Given the description of an element on the screen output the (x, y) to click on. 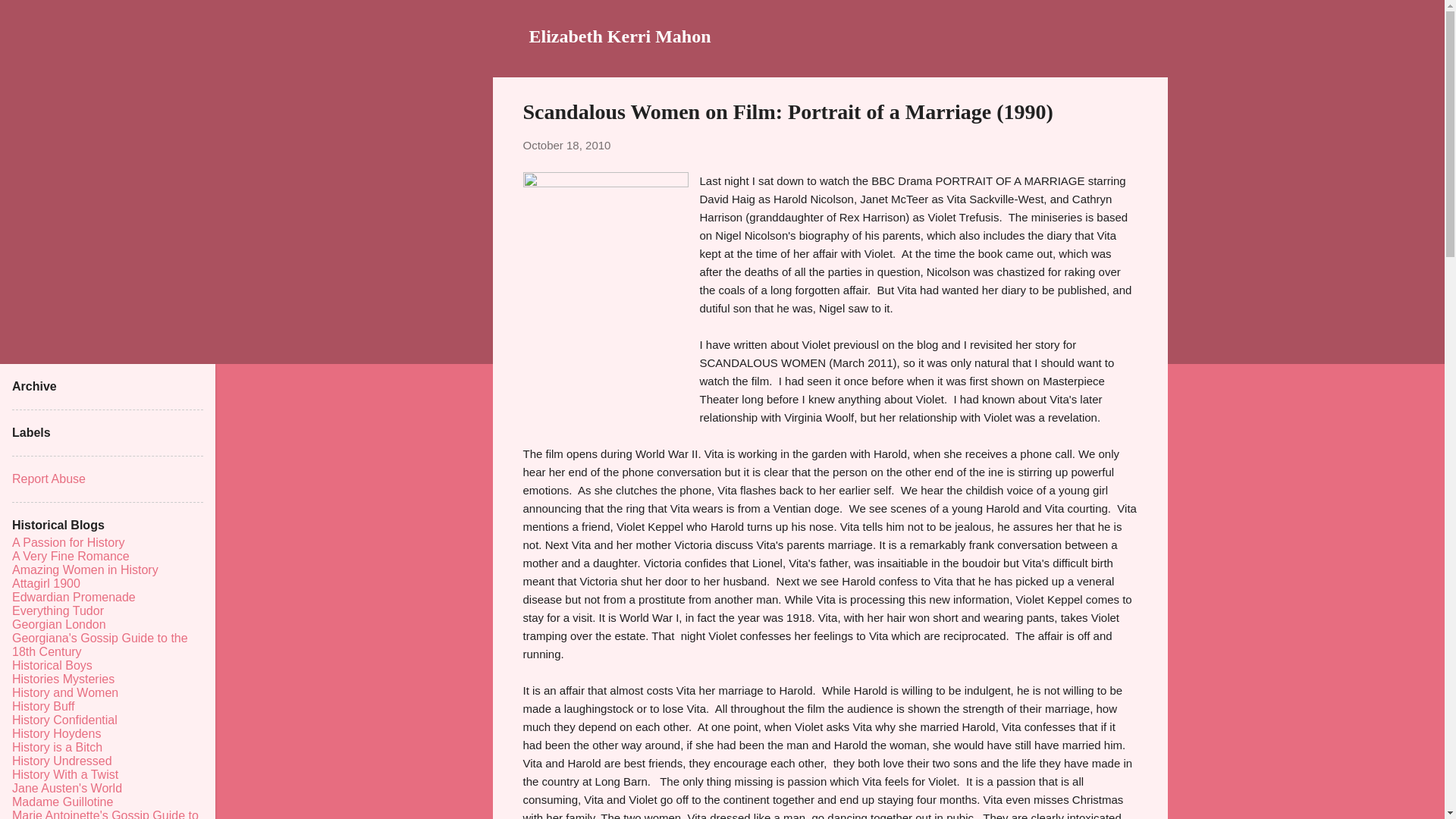
permanent link (566, 144)
Elizabeth Kerri Mahon (620, 35)
October 18, 2010 (566, 144)
Search (29, 18)
